Given the description of an element on the screen output the (x, y) to click on. 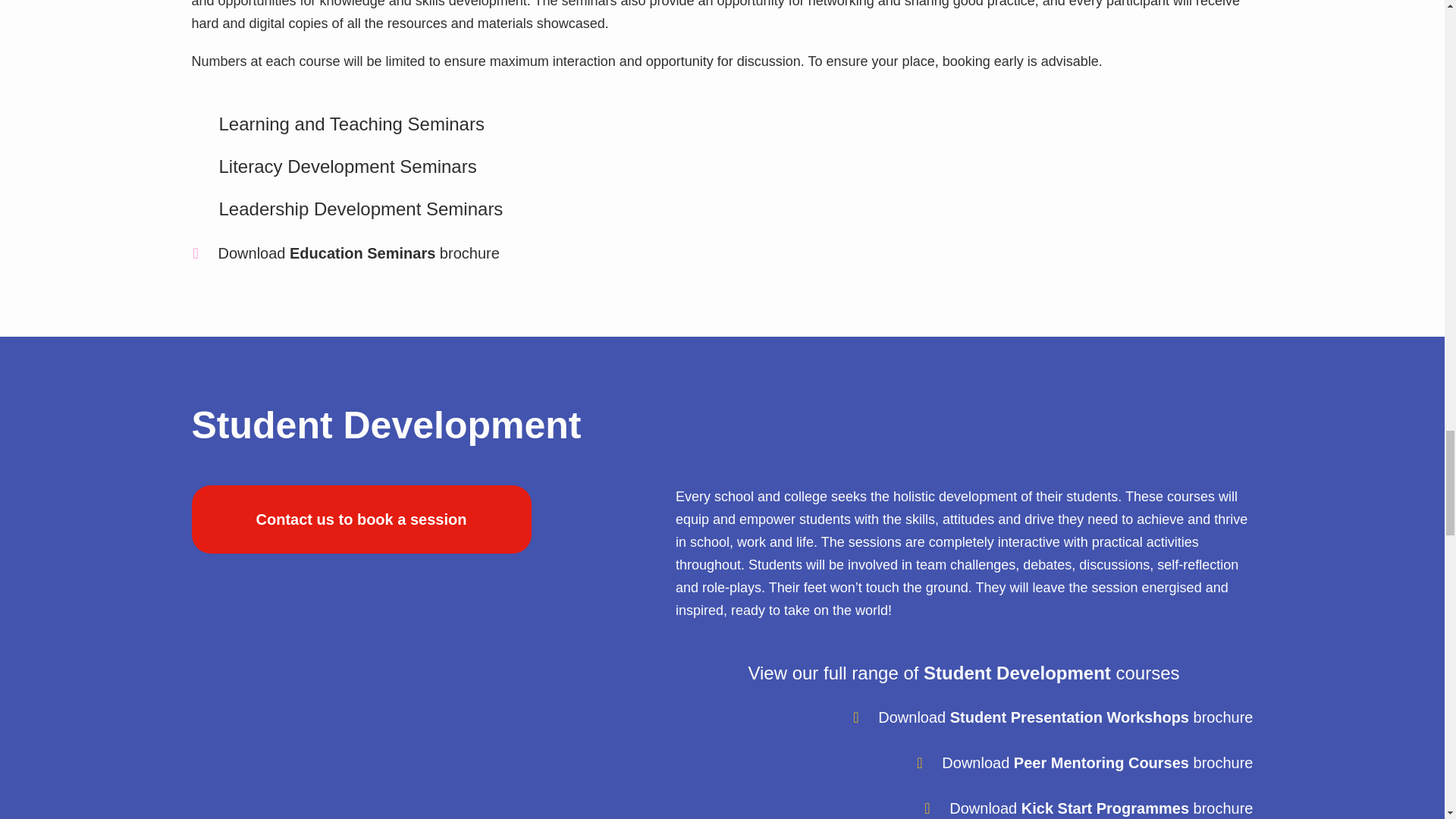
Book now (360, 519)
